Given the description of an element on the screen output the (x, y) to click on. 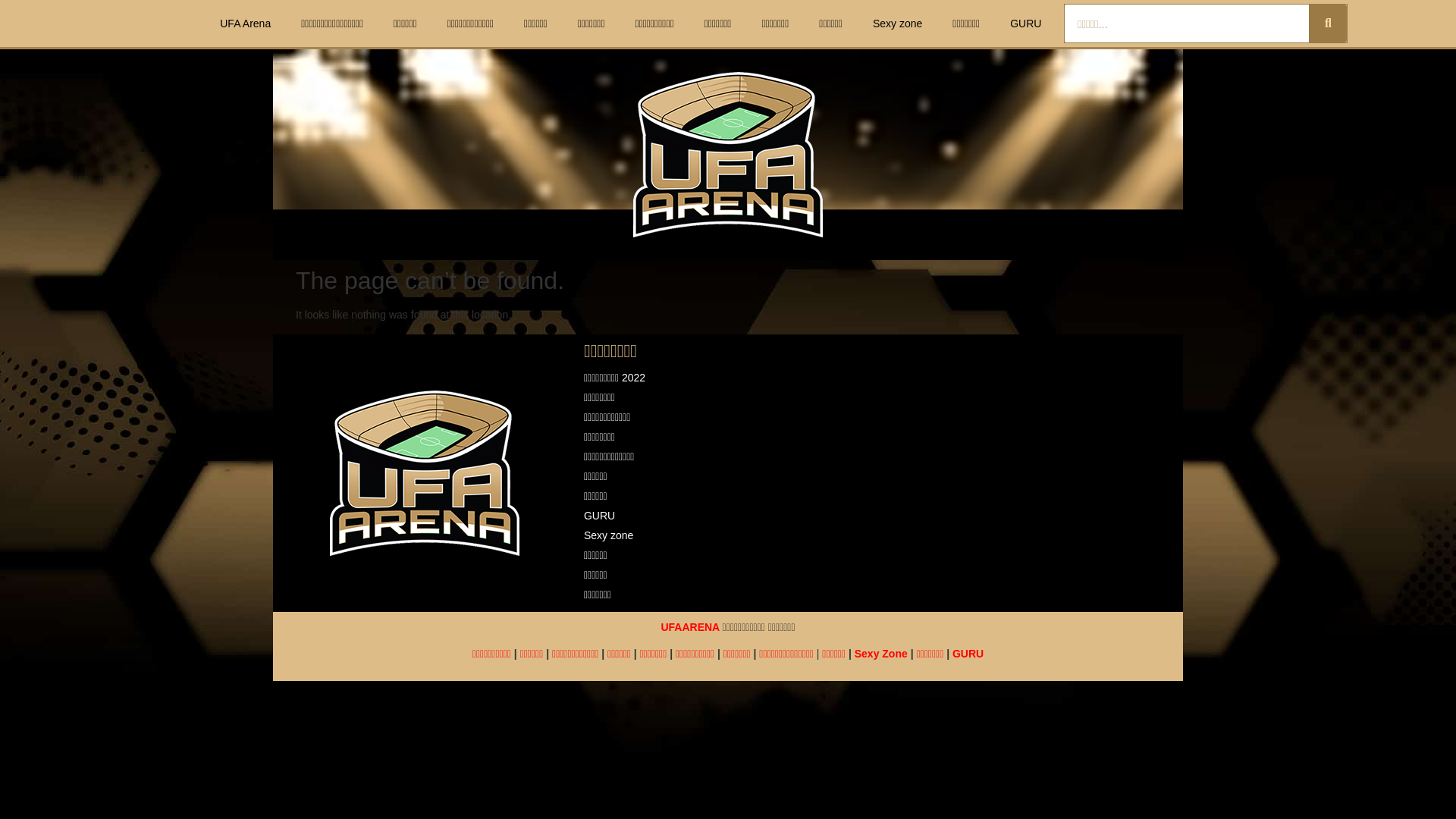
Sexy zone (727, 535)
GURU (1025, 22)
UFA Arena (245, 22)
Sexy zone (897, 22)
Search (1186, 23)
Search (1327, 23)
GURU (727, 515)
